Given the description of an element on the screen output the (x, y) to click on. 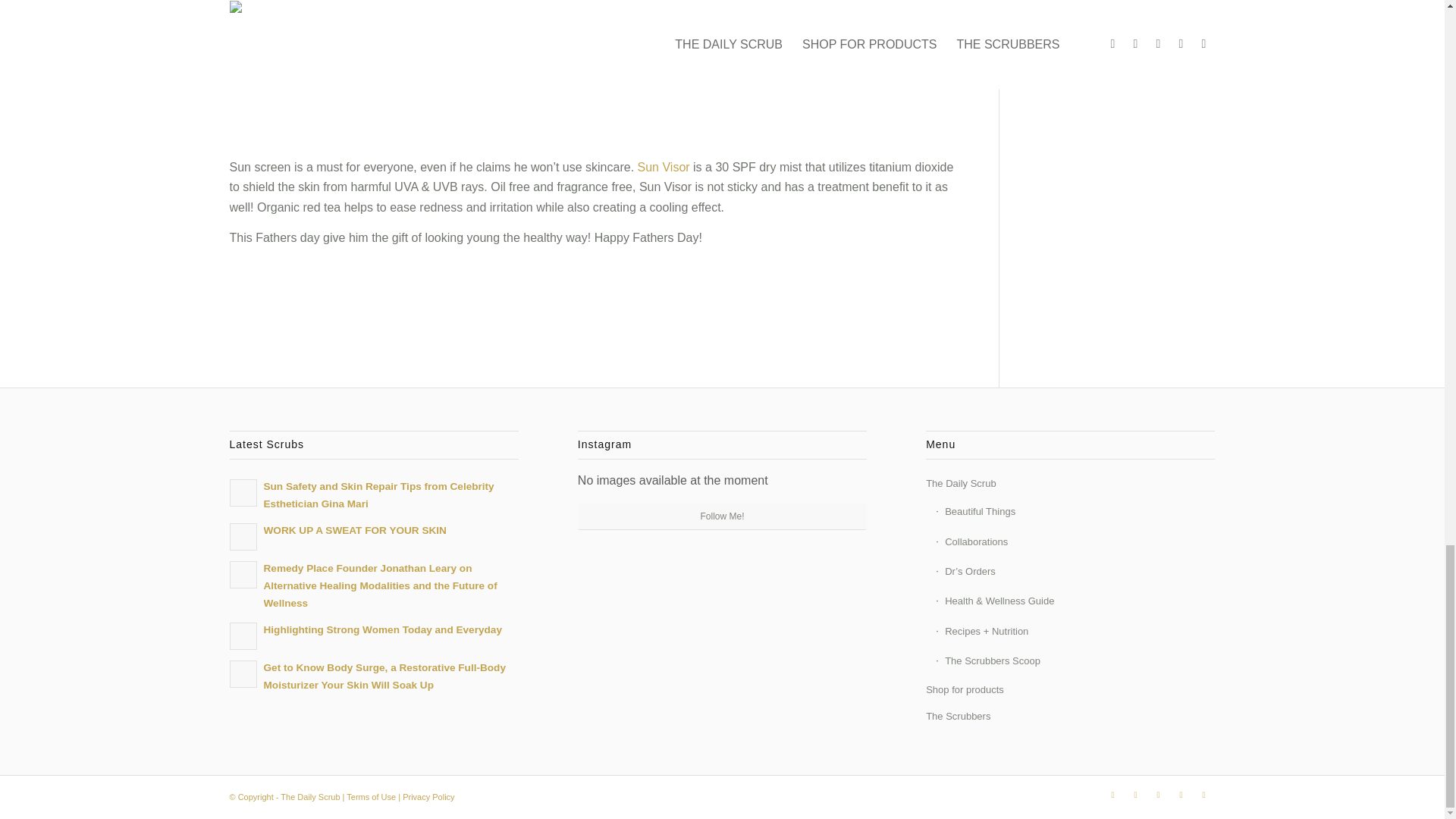
WORK UP A SWEAT FOR YOUR SKIN (373, 535)
Sun Visor (663, 166)
Facebook (1135, 793)
Highlighting Strong Women Today and Everyday (373, 634)
WORK UP A SWEAT FOR YOUR SKIN (373, 535)
Twitter (1112, 793)
